Given the description of an element on the screen output the (x, y) to click on. 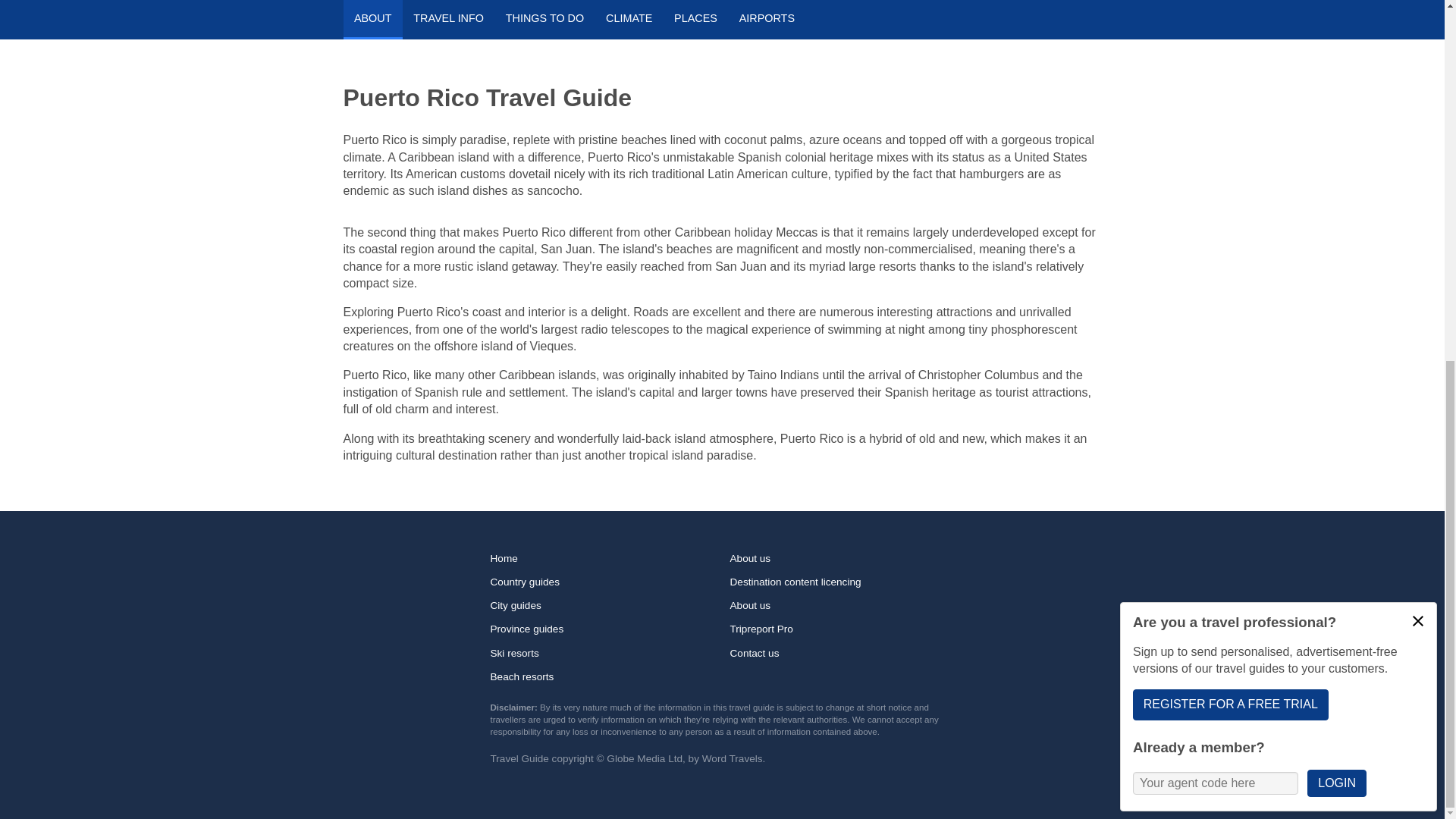
City guides (601, 605)
Ski resorts (601, 652)
LOGIN (1336, 142)
Province guides (601, 628)
About us (841, 605)
REGISTER FOR A FREE TRIAL (1229, 63)
TRAVEL INFO (449, 19)
Country guides (601, 581)
AIRPORTS (766, 19)
Contact us (841, 652)
